Given the description of an element on the screen output the (x, y) to click on. 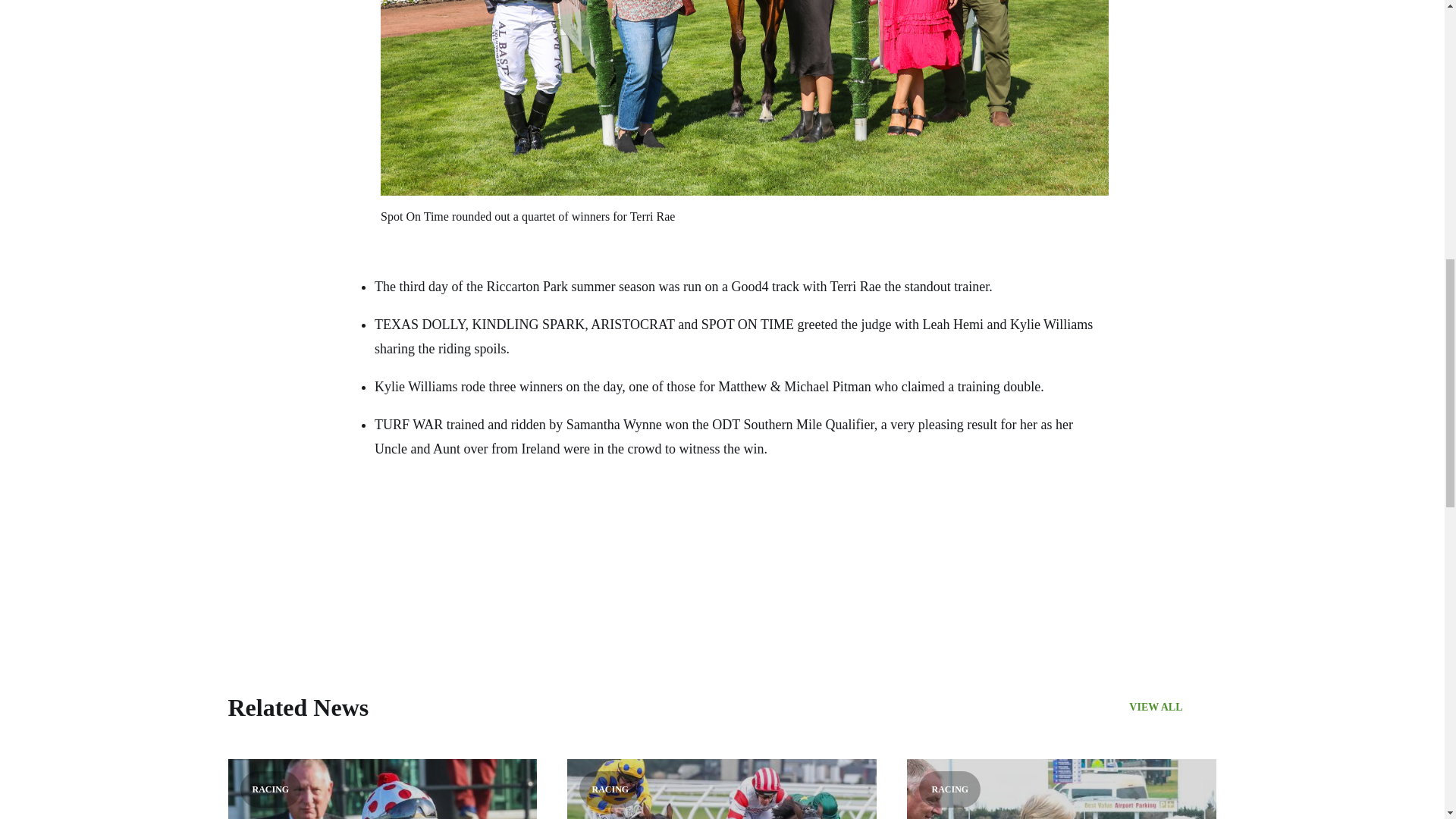
Copy Copy article link to clipboard (478, 551)
RACING (1061, 789)
VIEW ALL (1172, 707)
Twitter Link to share article on Twitter (418, 551)
RACING (382, 789)
Facebook Link to share article on Facebook (388, 551)
Copy Copy article link to clipboard (478, 551)
LinkedIn Link to share article on Twitter (449, 551)
LinkedIn Link to share article on Twitter (449, 551)
RACING (721, 789)
Twitter Link to share article on Twitter (418, 551)
Facebook Link to share article on Facebook (388, 551)
